Given the description of an element on the screen output the (x, y) to click on. 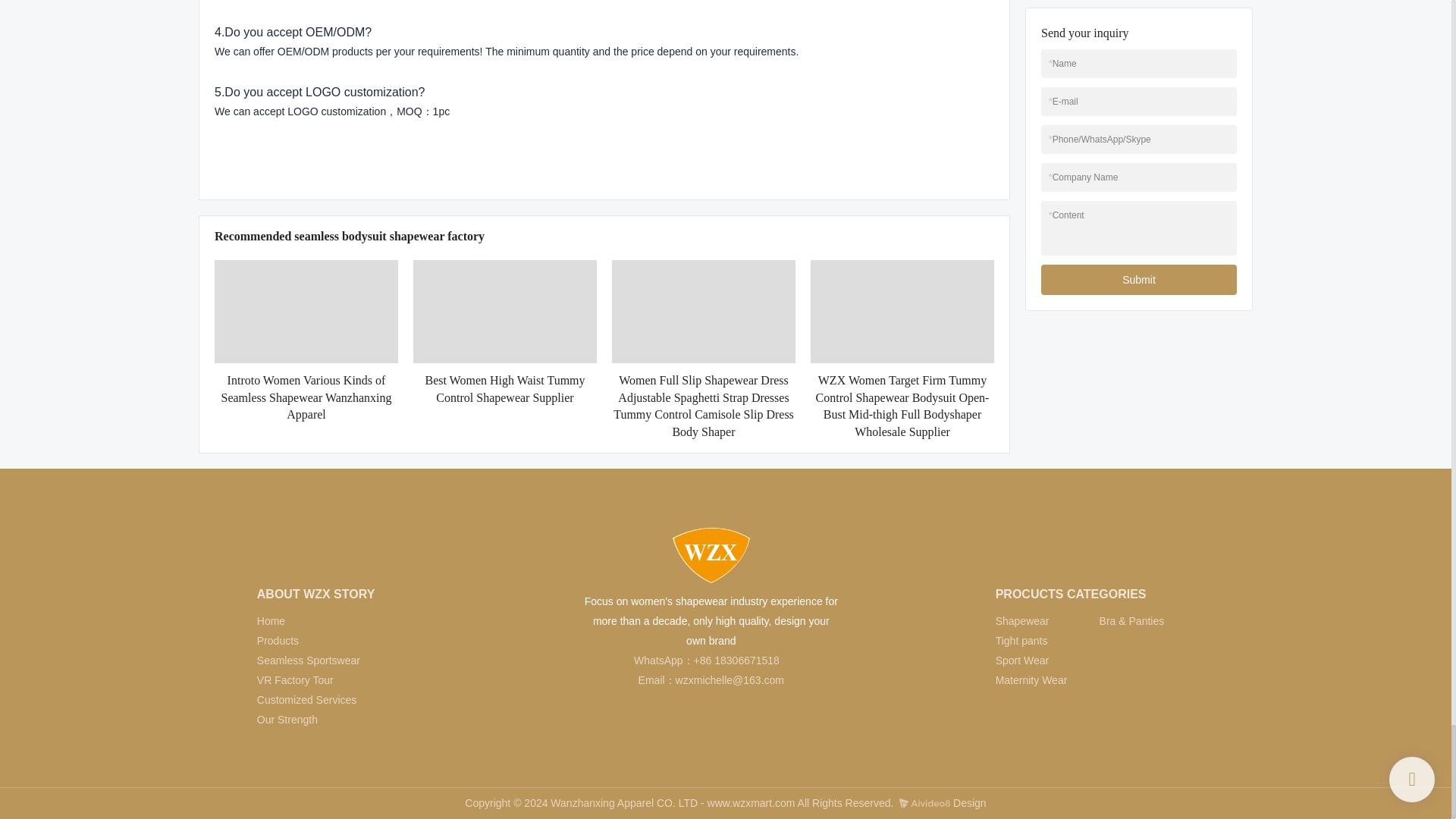
Best Women High Waist Tummy Control Shapewear Supplier (504, 389)
